Given the description of an element on the screen output the (x, y) to click on. 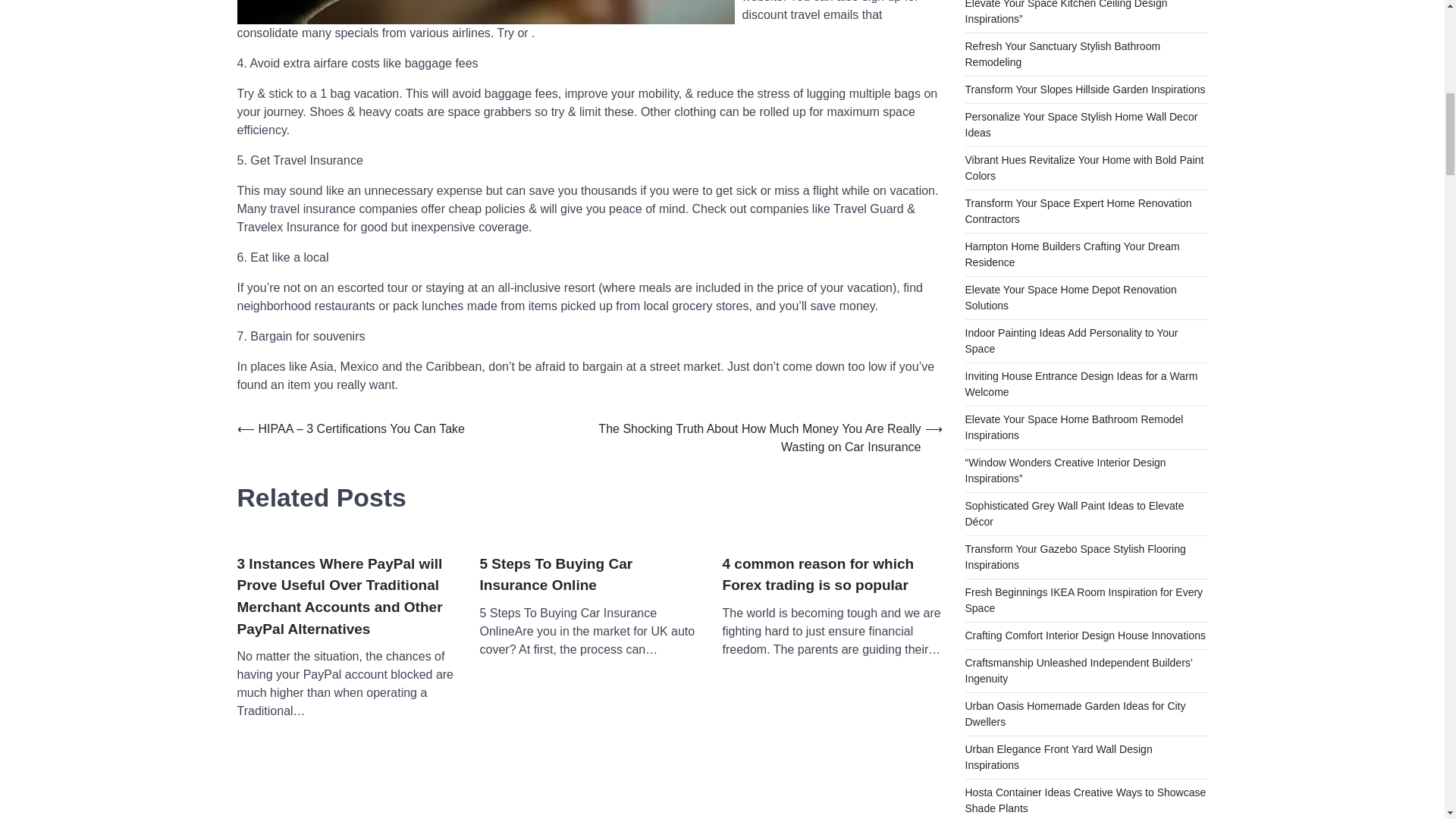
5 Steps To Buying Car Insurance Online (588, 575)
4 common reason for which Forex trading is so popular (832, 575)
